Given the description of an element on the screen output the (x, y) to click on. 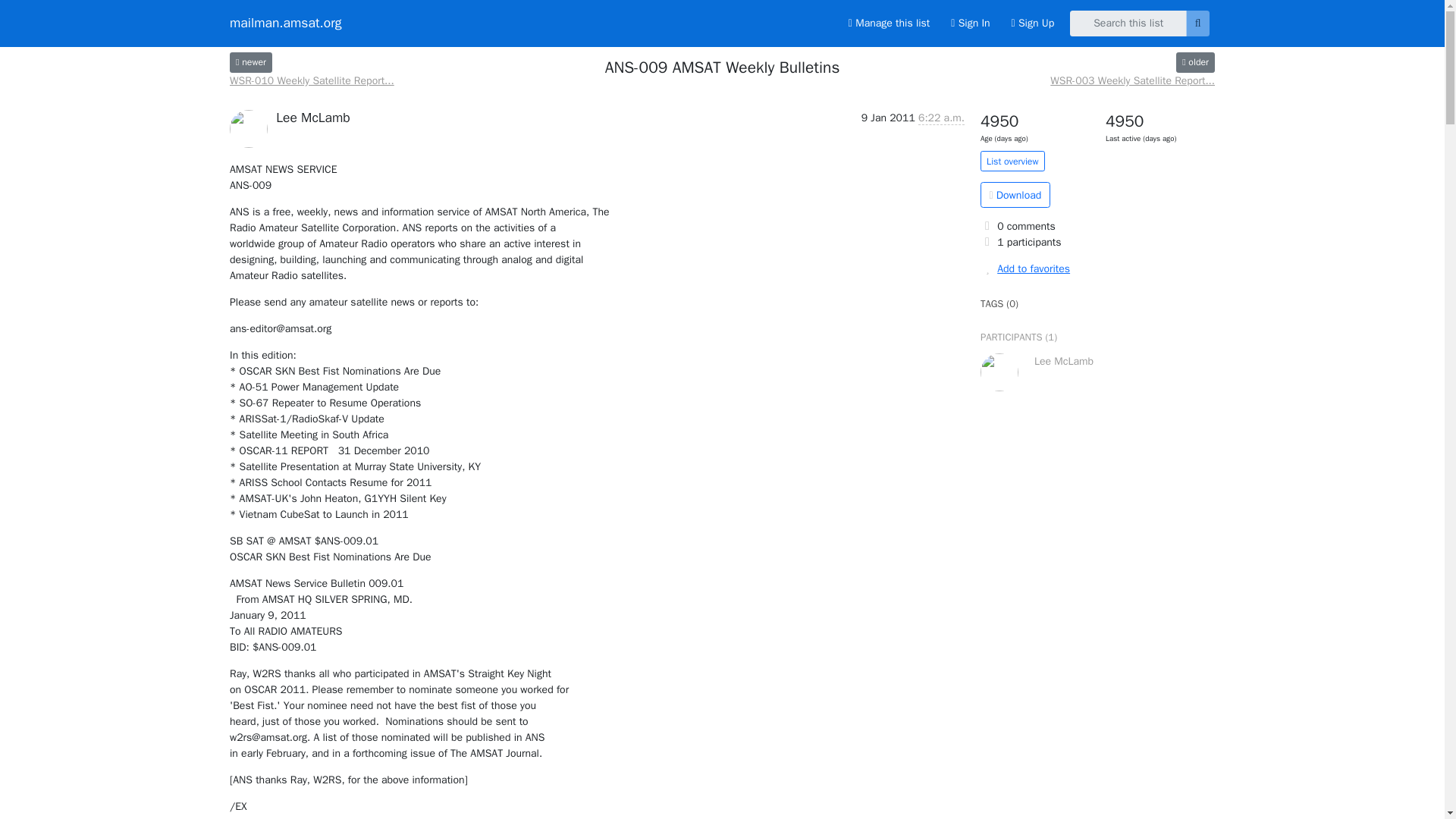
 WSR-003 Weekly Satellite Report 003 - January 03, 2011 (1195, 61)
 WSR-003 Weekly Satellite Report 003 - January 03, 2011 (1131, 80)
Sender's time: Jan. 9, 2011, 12:22 a.m. (940, 118)
 WSR-010 Weekly Satellite Report 010 - January 10.2011 (251, 61)
mailman.amsat.org (286, 23)
WSR-003 Weekly Satellite Report... (1131, 80)
You must be logged-in to have favorites. (1096, 268)
This thread in gzipped mbox format (1014, 194)
WSR-010 Weekly Satellite Report... (312, 80)
Sign In (970, 22)
Download (1014, 194)
Sign Up (1033, 22)
older (1195, 61)
newer (251, 61)
Manage this list (889, 22)
